Given the description of an element on the screen output the (x, y) to click on. 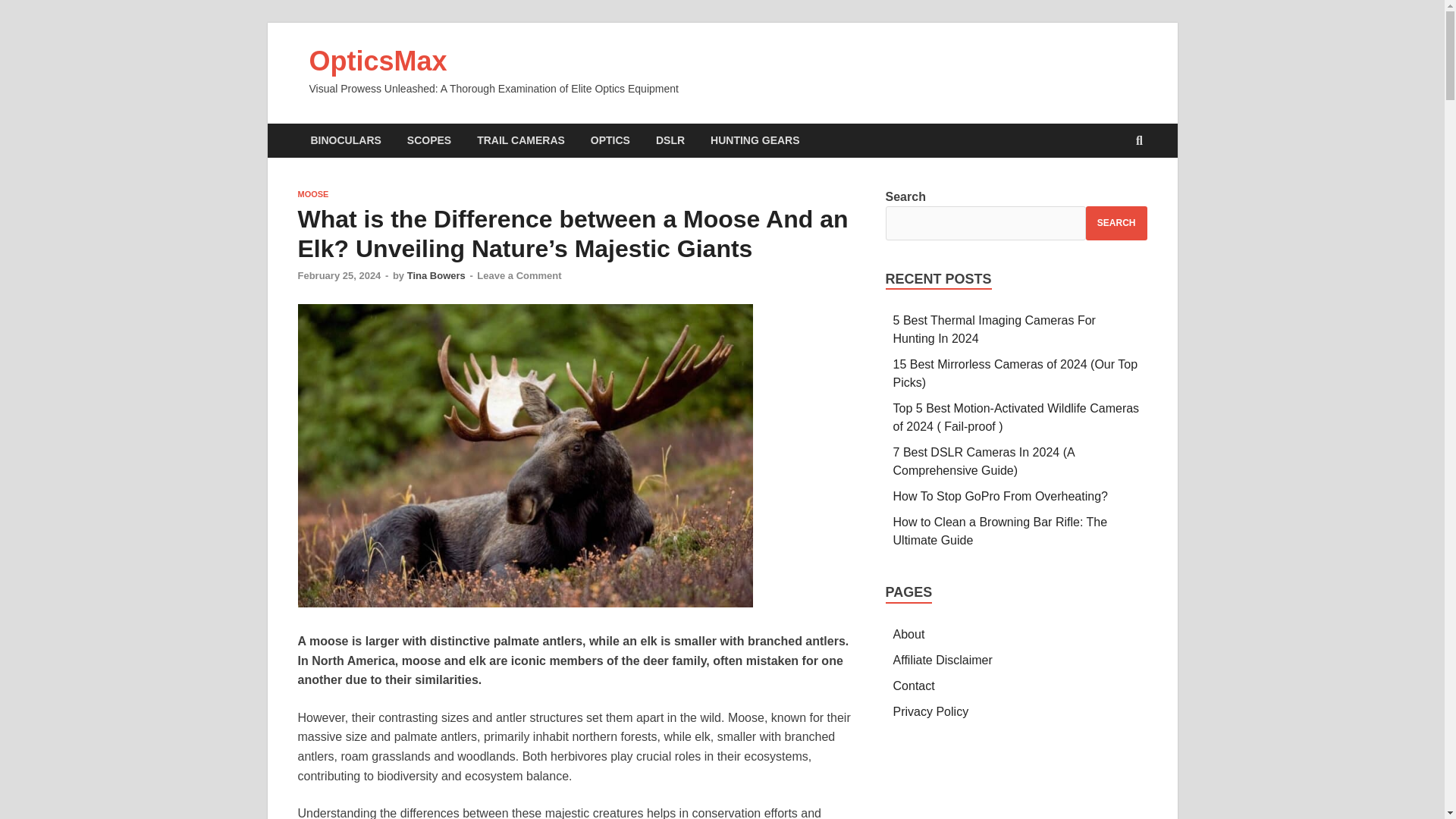
Leave a Comment (518, 275)
BINOCULARS (345, 140)
OpticsMax (377, 60)
MOOSE (313, 194)
SCOPES (429, 140)
Tina Bowers (436, 275)
HUNTING GEARS (754, 140)
OPTICS (610, 140)
February 25, 2024 (338, 275)
DSLR (670, 140)
TRAIL CAMERAS (521, 140)
